Given the description of an element on the screen output the (x, y) to click on. 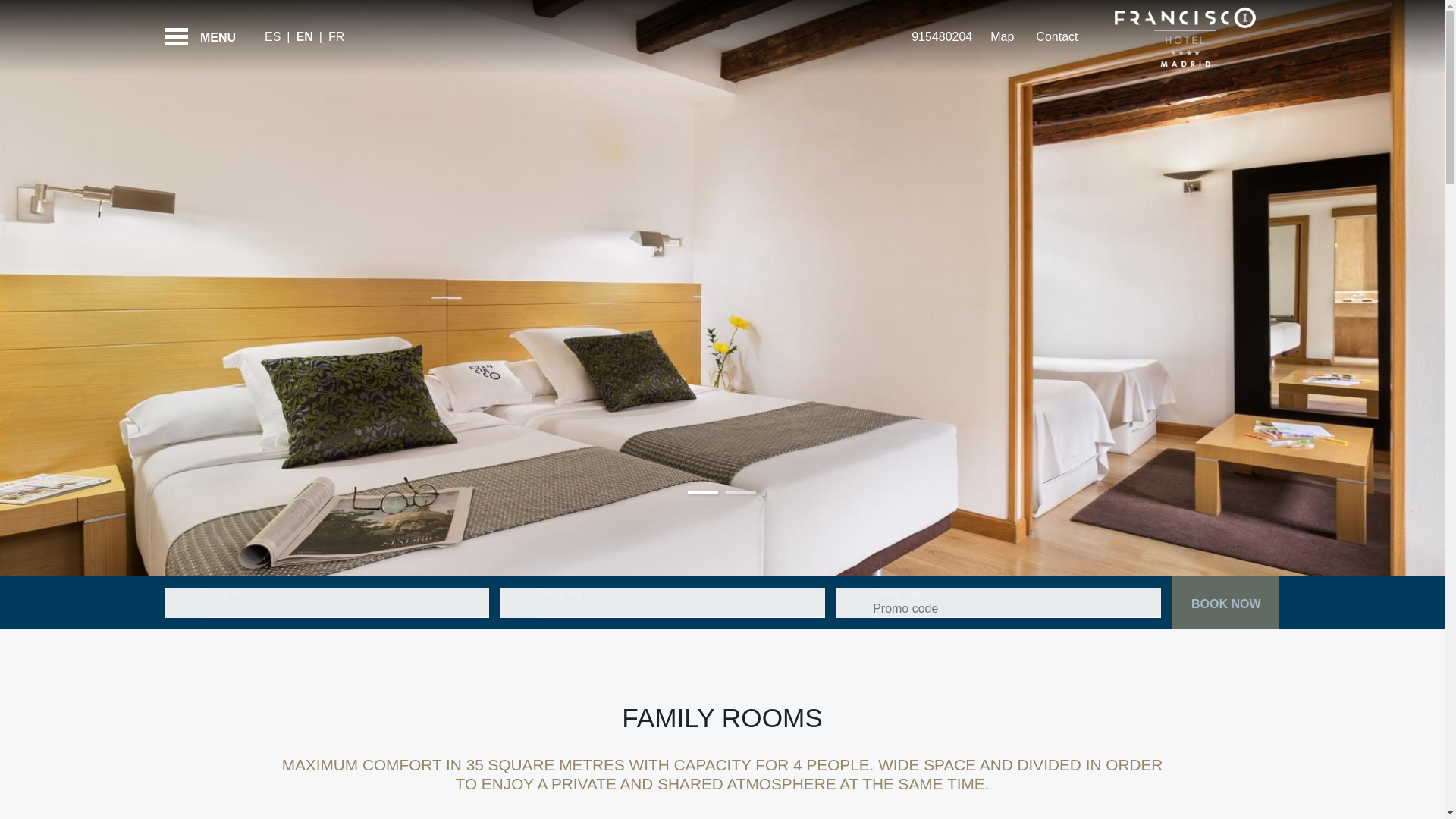
02 (740, 492)
915480204 (939, 36)
BOOK NOW (1225, 602)
Contact (1054, 36)
ES (275, 36)
FR (339, 36)
MENU (206, 37)
915480204 (939, 36)
Home (1184, 37)
01 (702, 492)
EN (306, 36)
Map (1001, 36)
Contact us (1054, 36)
Where we are (1001, 36)
